Given the description of an element on the screen output the (x, y) to click on. 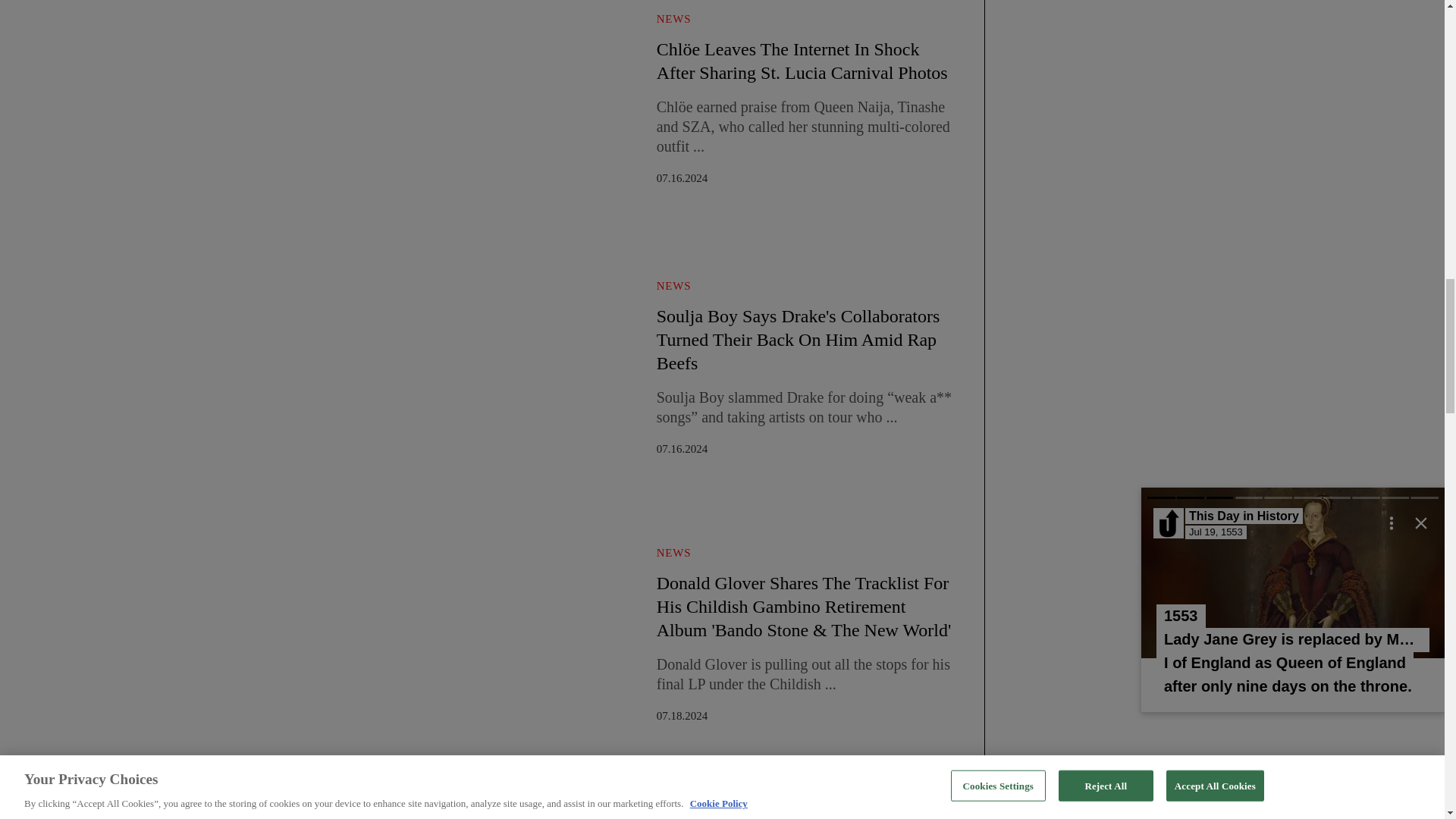
NEWS (673, 19)
